Given the description of an element on the screen output the (x, y) to click on. 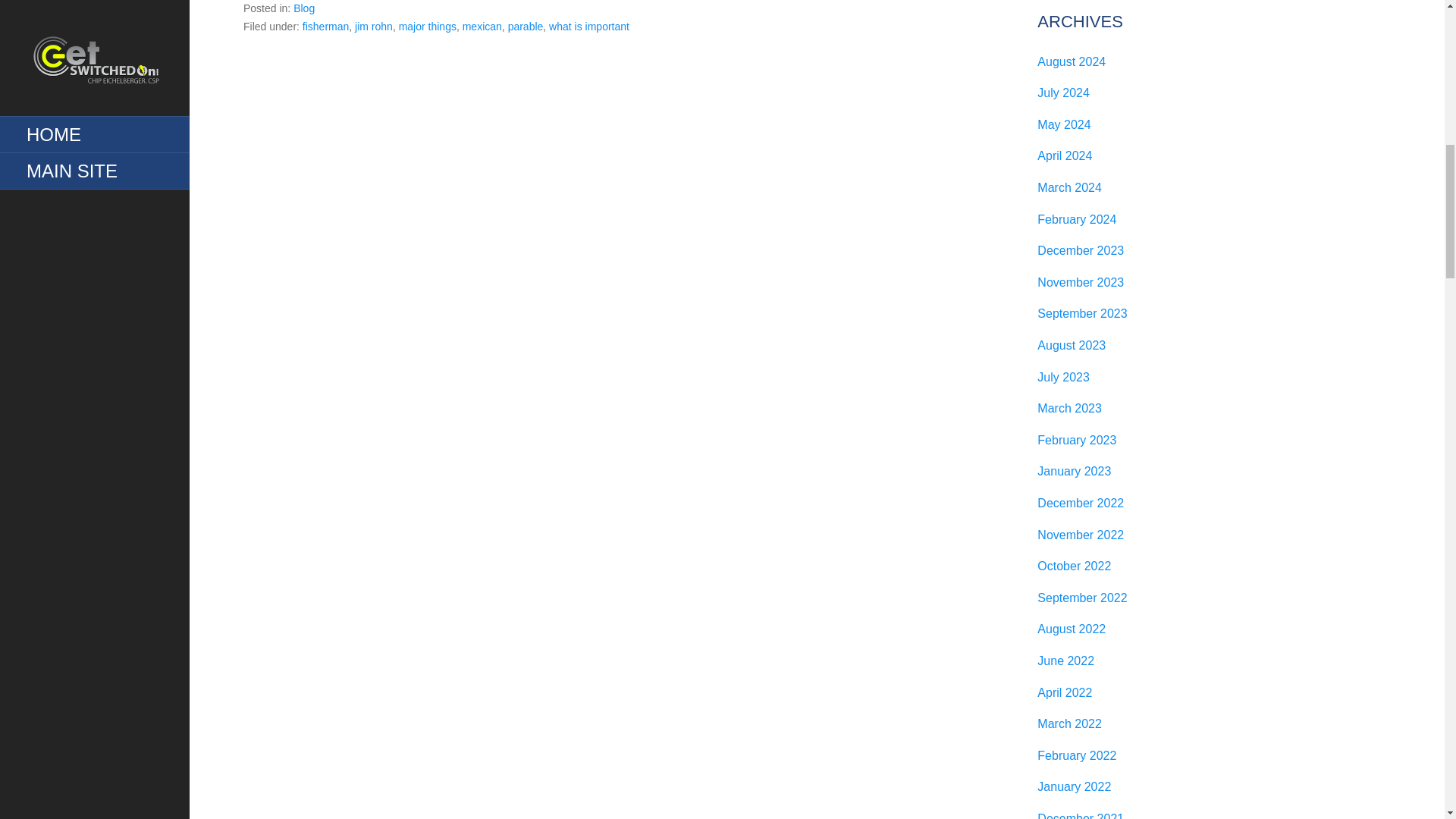
Blog (304, 8)
August 2023 (1070, 345)
March 2024 (1069, 187)
mexican (482, 26)
parable (525, 26)
fisherman (325, 26)
April 2024 (1064, 155)
major things (427, 26)
jim rohn (374, 26)
July 2024 (1062, 92)
